Given the description of an element on the screen output the (x, y) to click on. 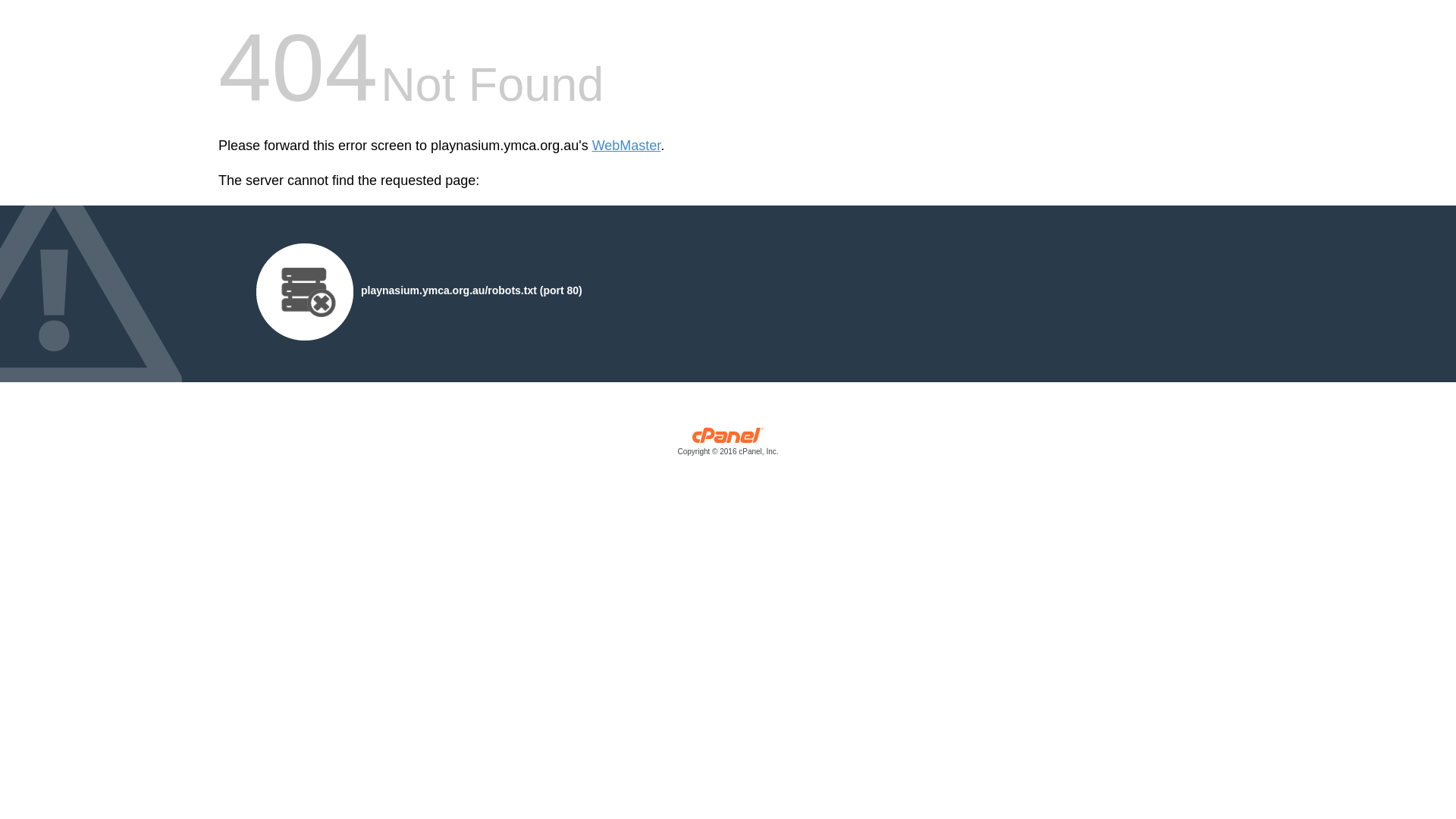
WebMaster Element type: text (626, 145)
